Given the description of an element on the screen output the (x, y) to click on. 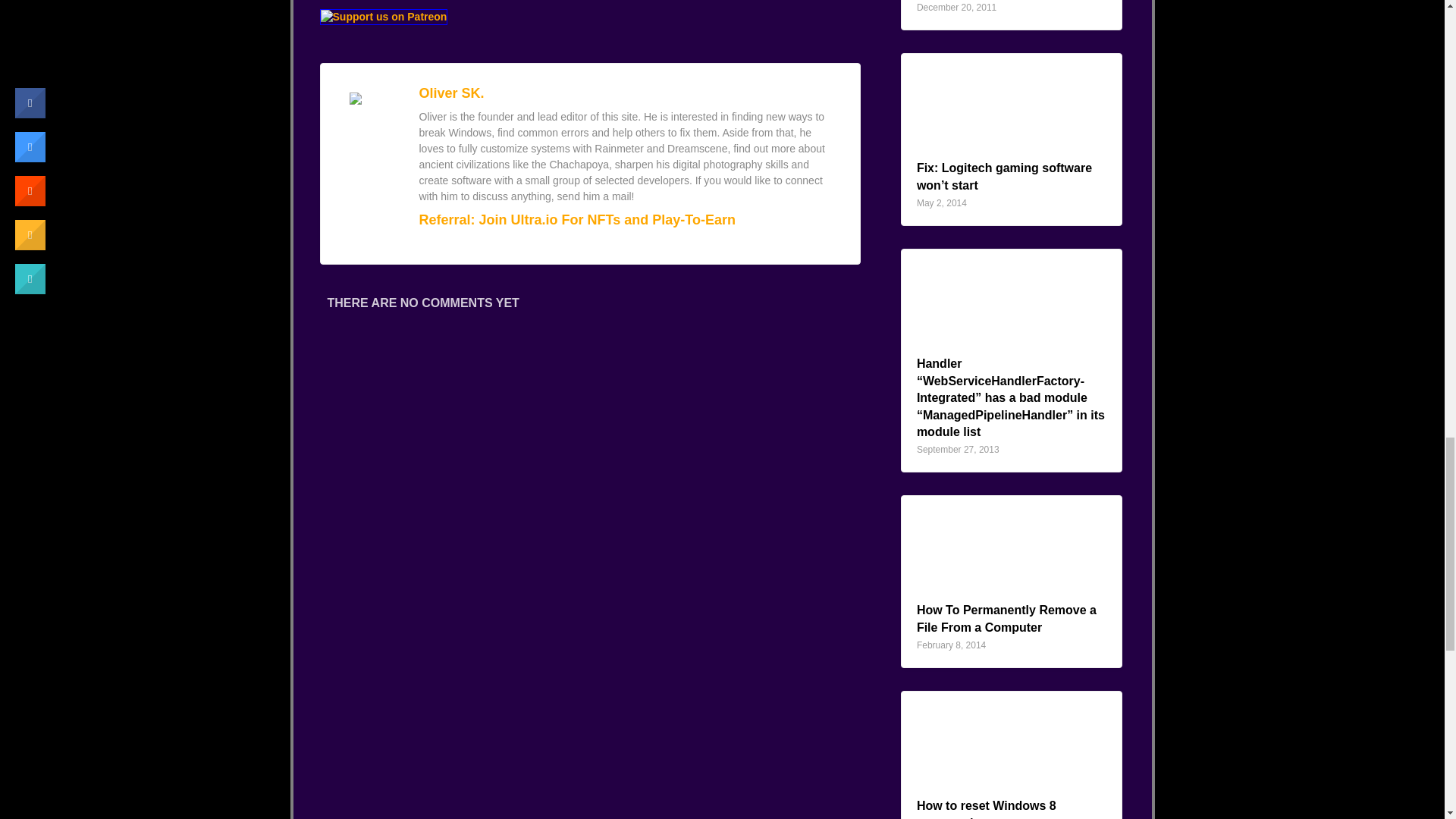
Posts by Oliver SK. (451, 92)
Referral: Join Ultra.io For NFTs and Play-To-Earn (577, 219)
Oliver SK. (451, 92)
